Given the description of an element on the screen output the (x, y) to click on. 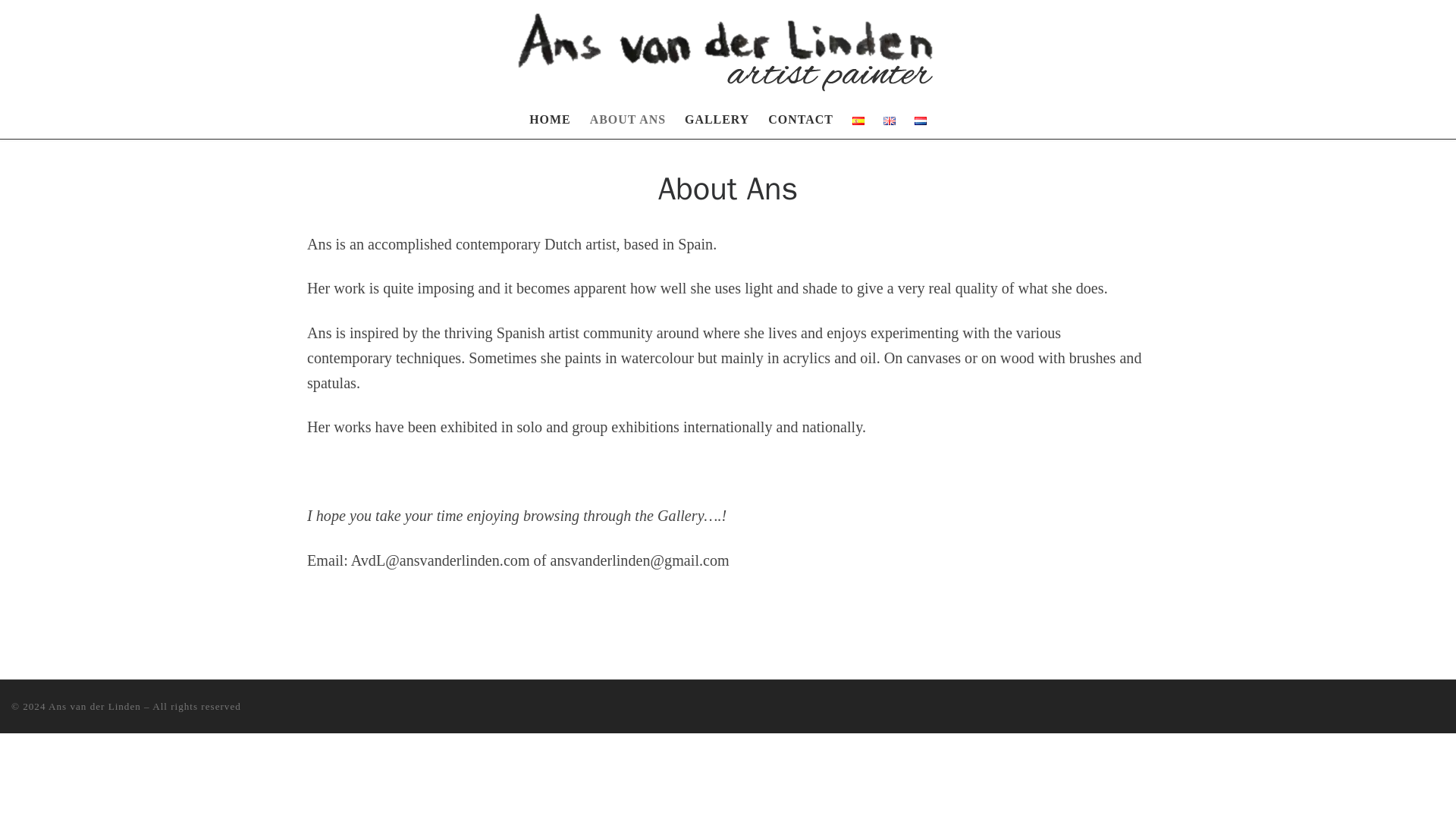
Ans van der Linden (94, 706)
GALLERY (716, 119)
HOME (549, 119)
Ans van der Linden (94, 706)
CONTACT (800, 119)
ABOUT ANS (627, 119)
